Given the description of an element on the screen output the (x, y) to click on. 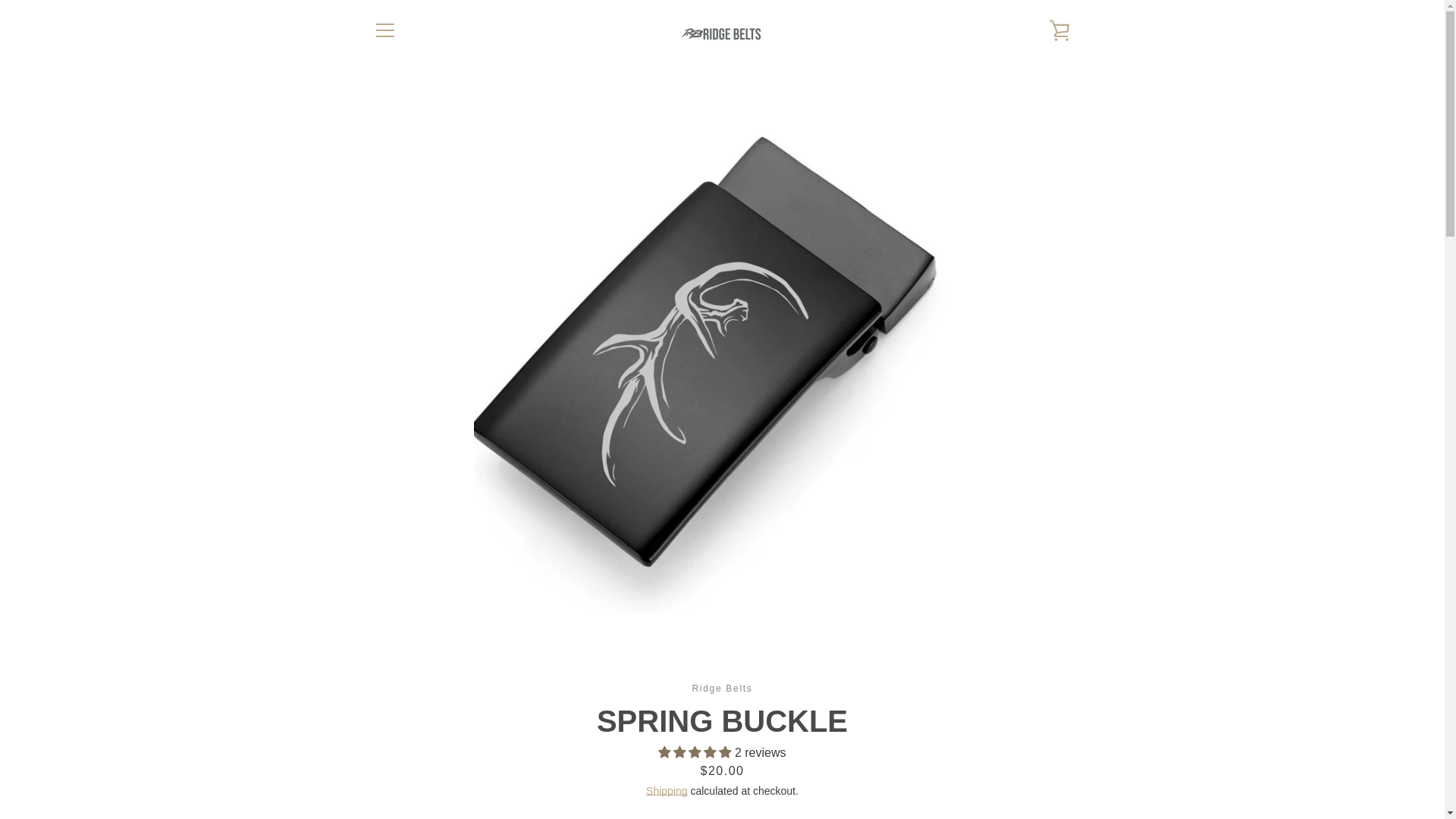
MENU (384, 30)
Ridge Belts on YouTube (424, 765)
PayPal (1022, 755)
Mastercard (988, 755)
Discover (918, 755)
Shipping (666, 790)
Shop Pay (1057, 755)
Visa (1057, 778)
Ridge Belts on Instagram (399, 765)
Meta Pay (953, 755)
Ridge Belts on Facebook (372, 765)
Venmo (1022, 778)
VIEW CART (1059, 30)
American Express (883, 755)
